Given the description of an element on the screen output the (x, y) to click on. 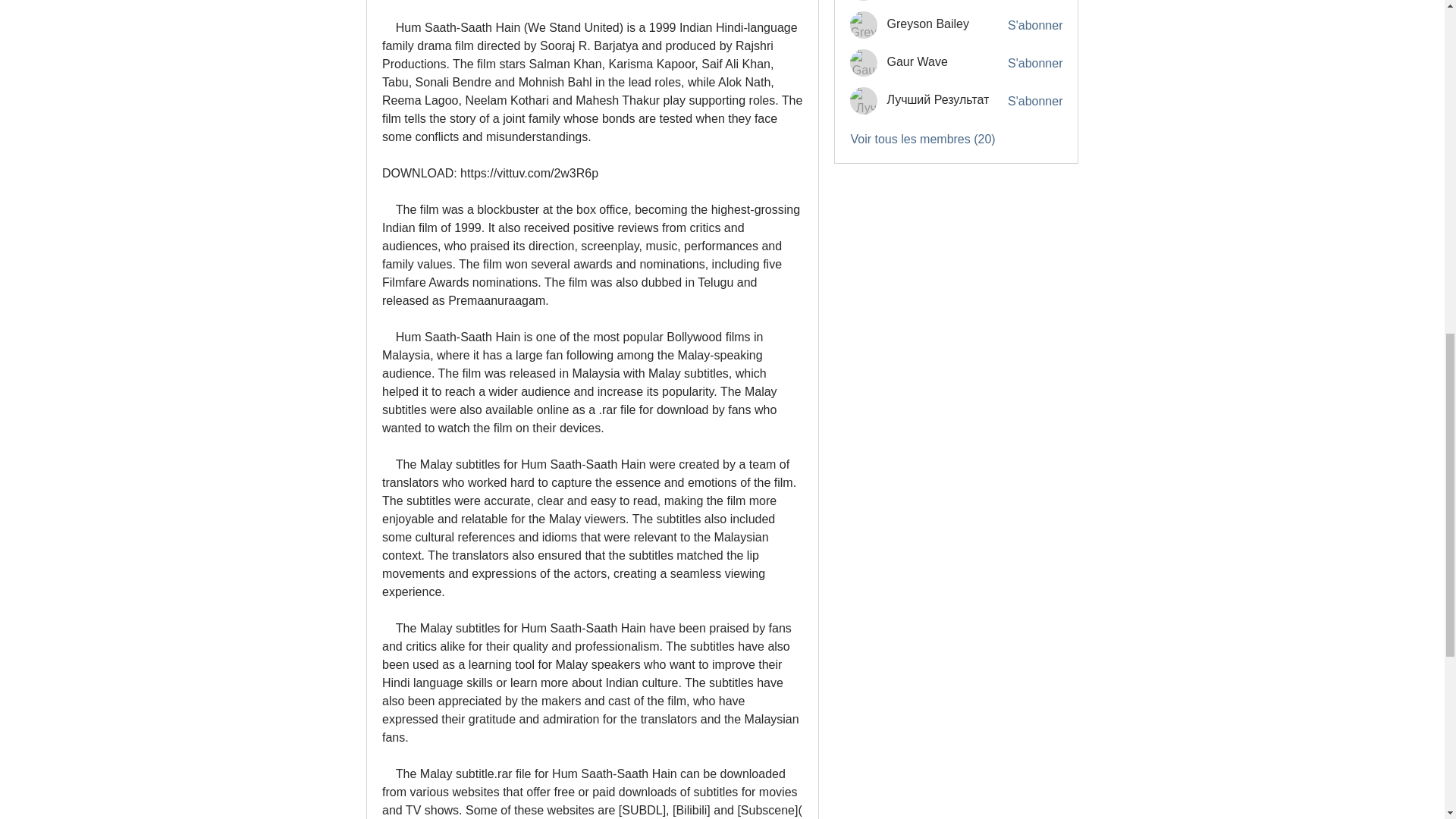
Greyson Bailey (927, 23)
Gaur Wave (916, 61)
Gaur Wave (863, 62)
S'abonner (1034, 25)
S'abonner (1034, 101)
Greyson Bailey (863, 24)
S'abonner (1034, 63)
